Given the description of an element on the screen output the (x, y) to click on. 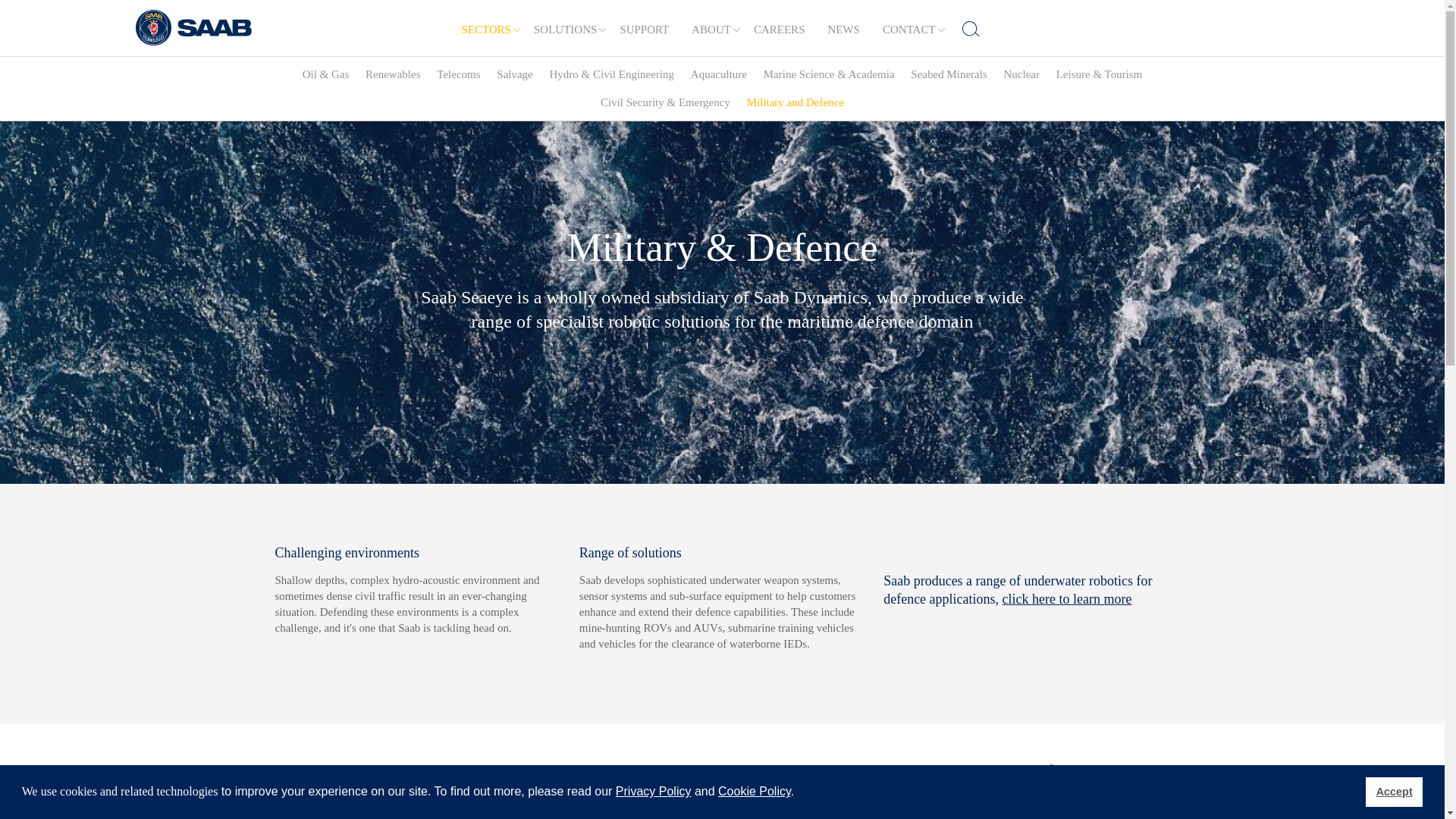
CAREERS (779, 29)
NEWS (842, 29)
Cookie Policy (753, 790)
Privacy Policy (653, 790)
SOLUTIONS (565, 29)
Accept (1393, 791)
SECTORS (485, 29)
CONTACT (908, 29)
SUPPORT (643, 29)
ABOUT (710, 29)
